Given the description of an element on the screen output the (x, y) to click on. 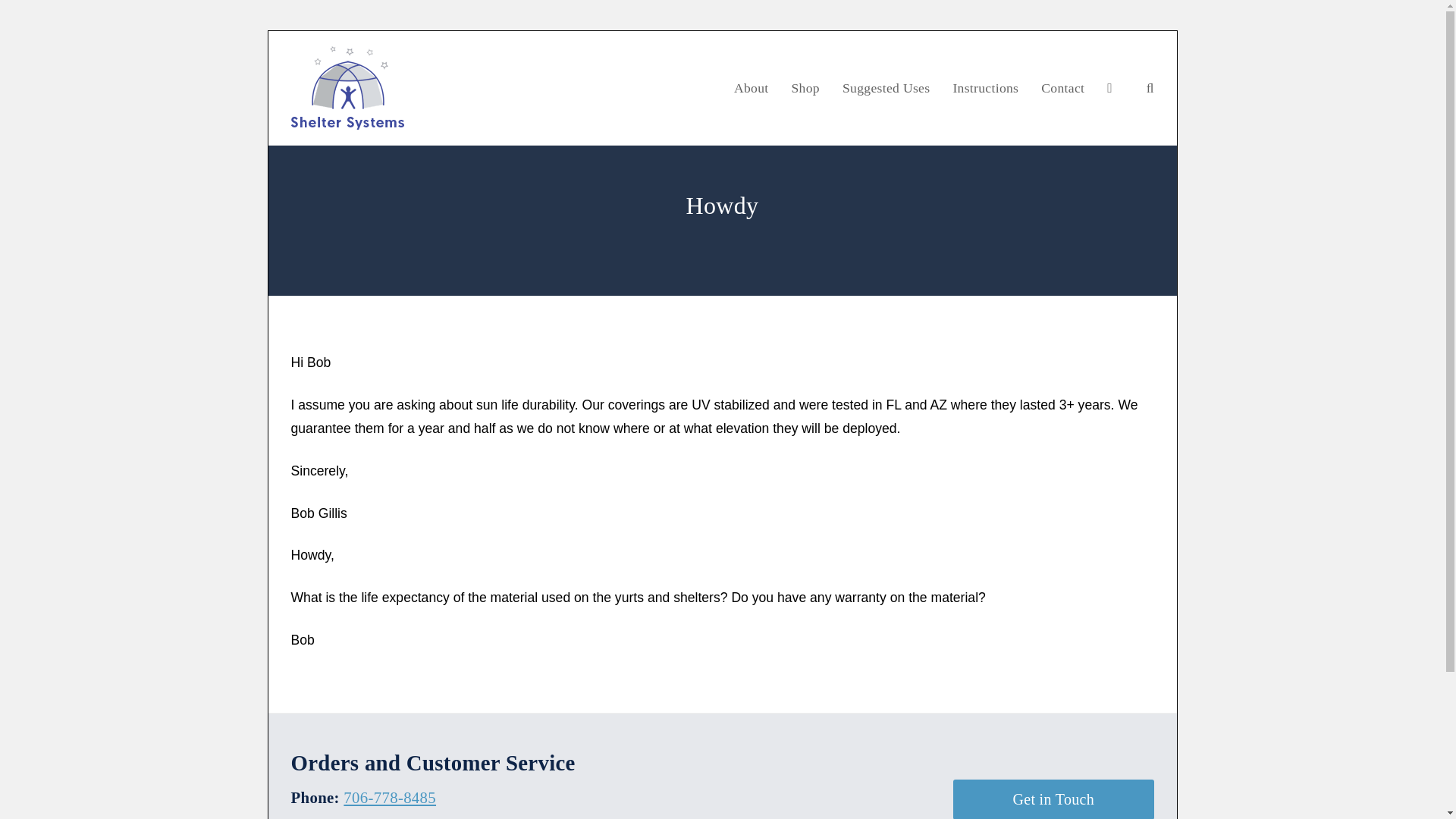
Instructions (984, 87)
Shop (803, 87)
About (751, 87)
Suggested Uses (885, 87)
